Given the description of an element on the screen output the (x, y) to click on. 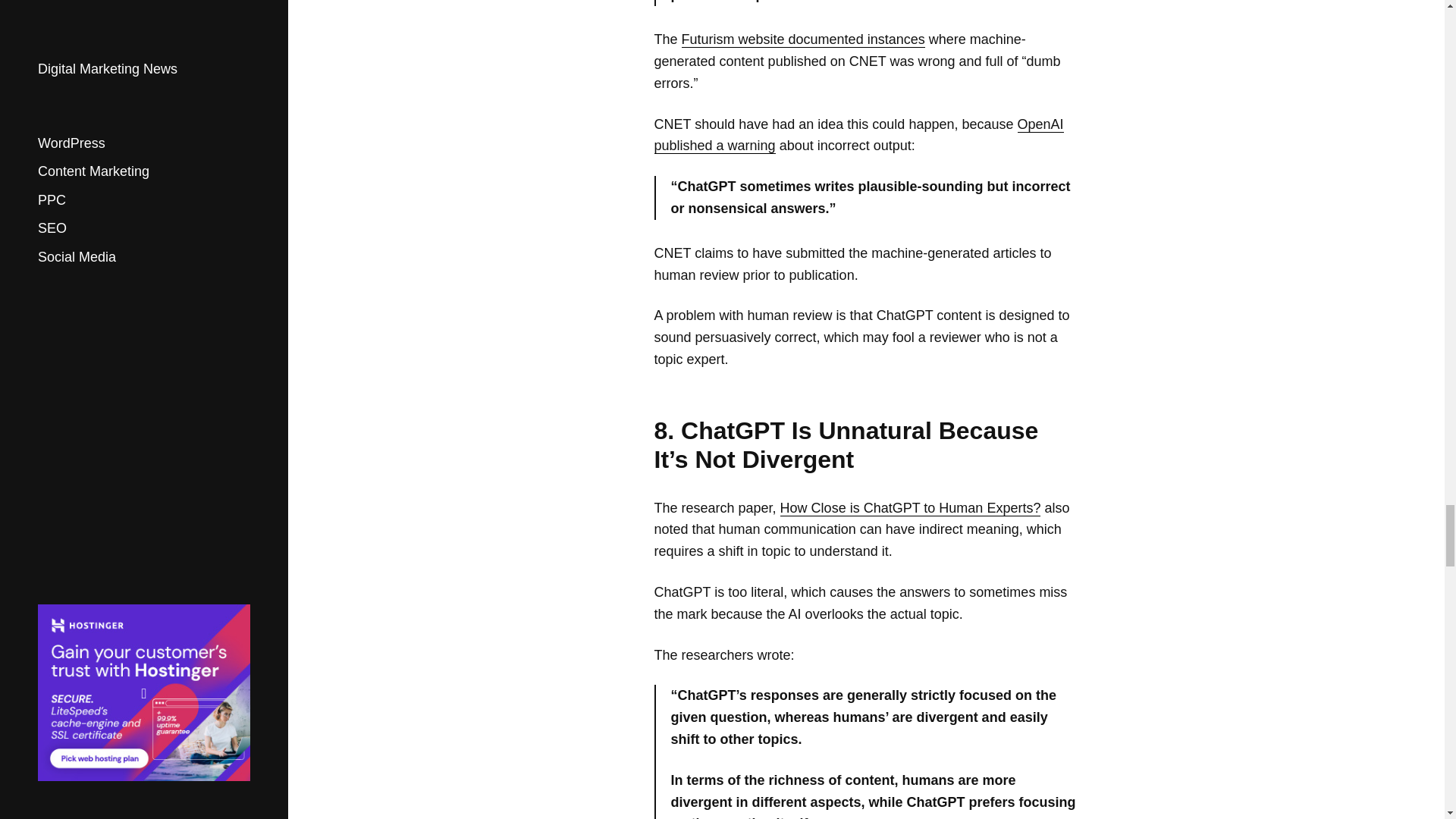
How Close is ChatGPT to Human Experts? (910, 508)
OpenAI published a warning (857, 135)
Futurism website documented instances (802, 39)
